Given the description of an element on the screen output the (x, y) to click on. 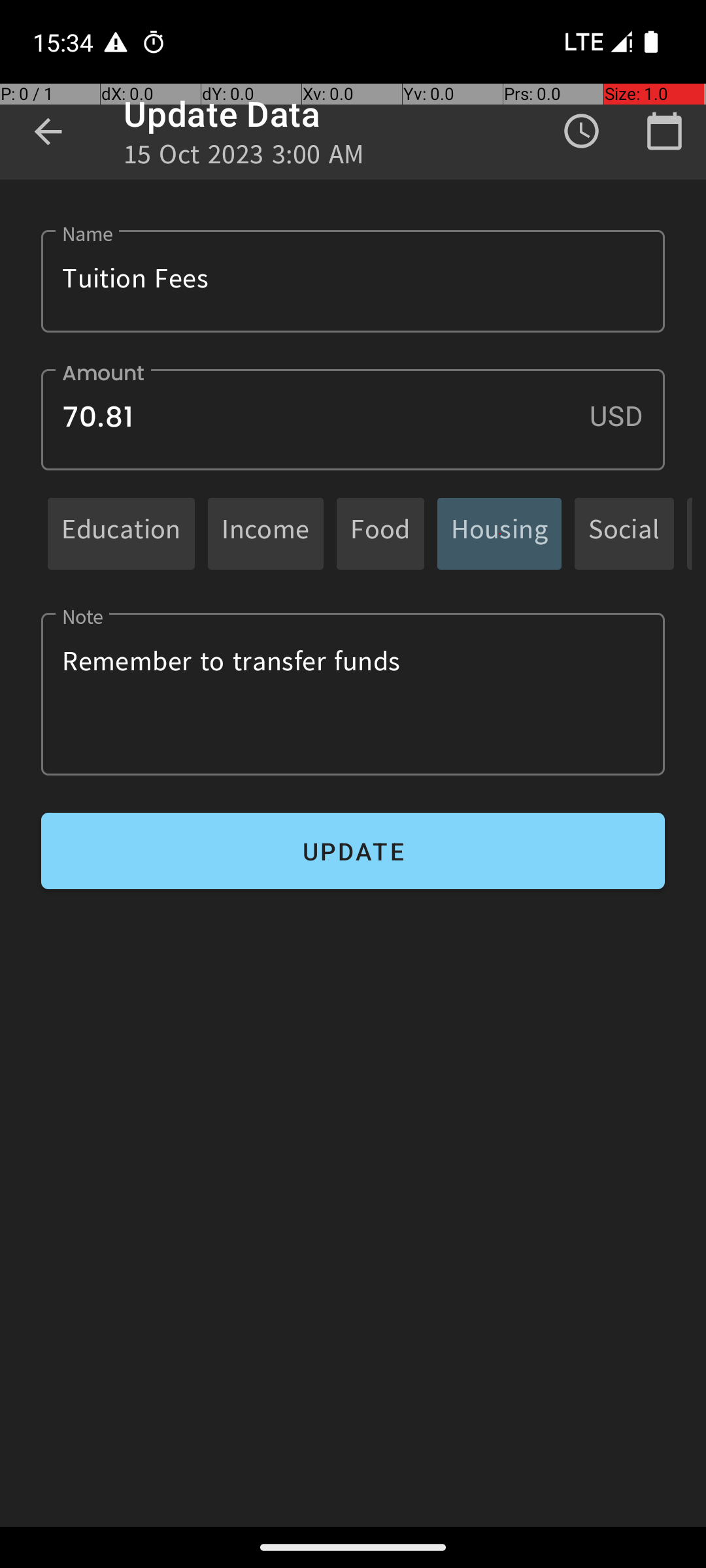
15 Oct 2023 3:00 AM Element type: android.widget.TextView (243, 157)
Tuition Fees Element type: android.widget.EditText (352, 280)
70.81 Element type: android.widget.EditText (352, 419)
Education Element type: android.widget.TextView (121, 533)
